Given the description of an element on the screen output the (x, y) to click on. 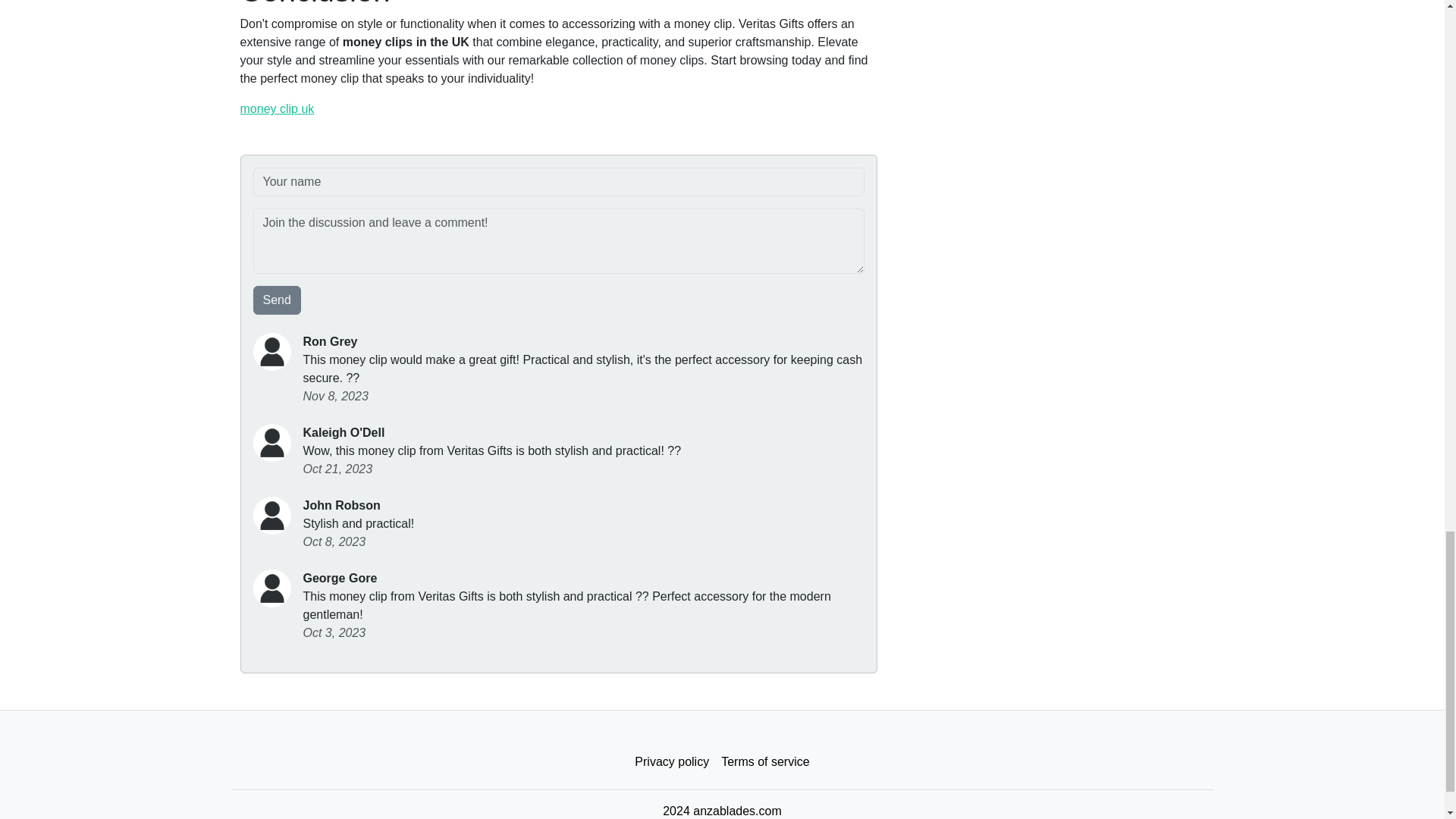
Send (277, 299)
Terms of service (764, 761)
Privacy policy (671, 761)
money clip uk (277, 108)
Send (277, 299)
